Given the description of an element on the screen output the (x, y) to click on. 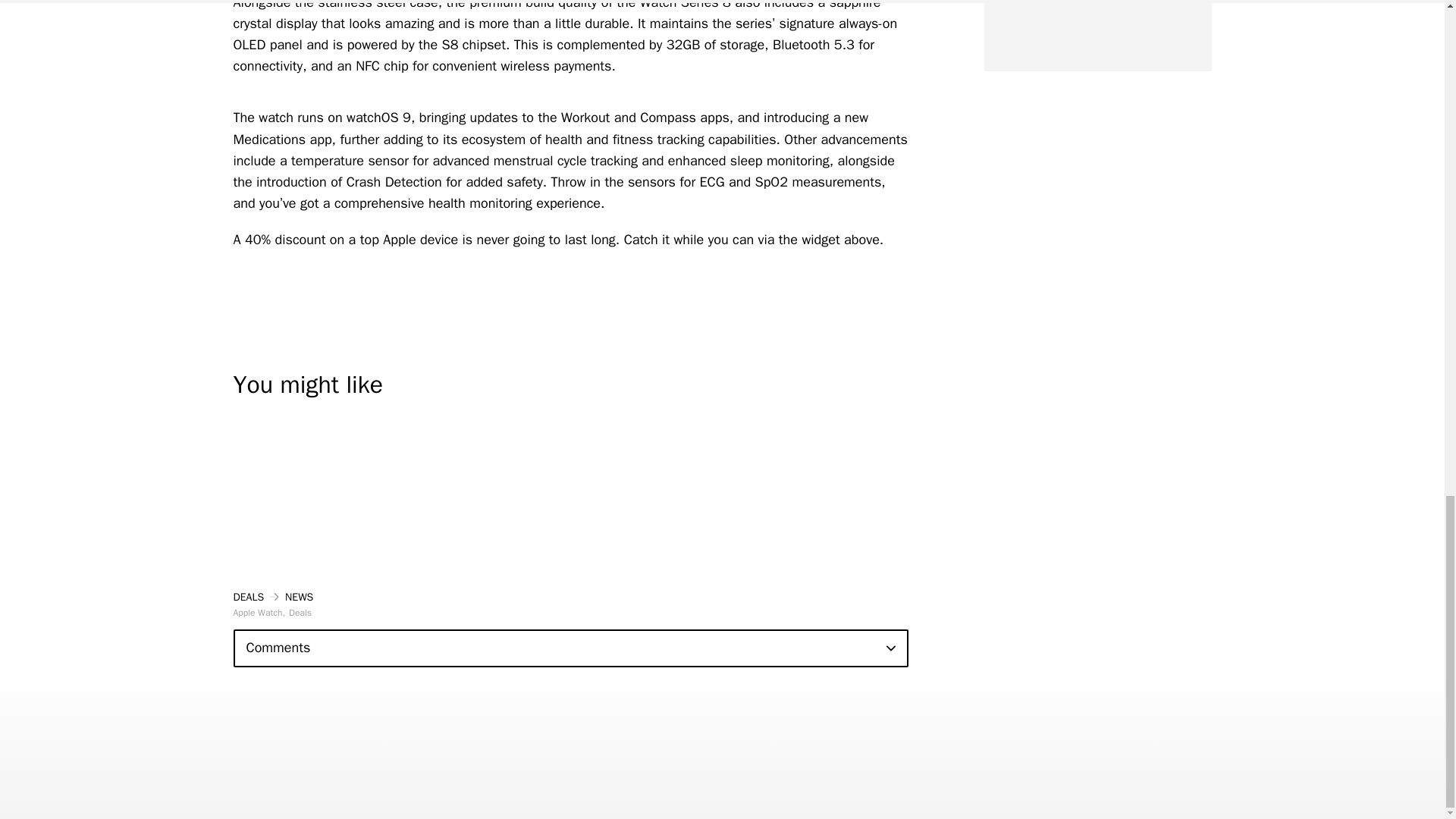
DEALS (248, 596)
Deals (299, 612)
Comments (570, 648)
NEWS (299, 596)
Apple Watch (258, 612)
